Given the description of an element on the screen output the (x, y) to click on. 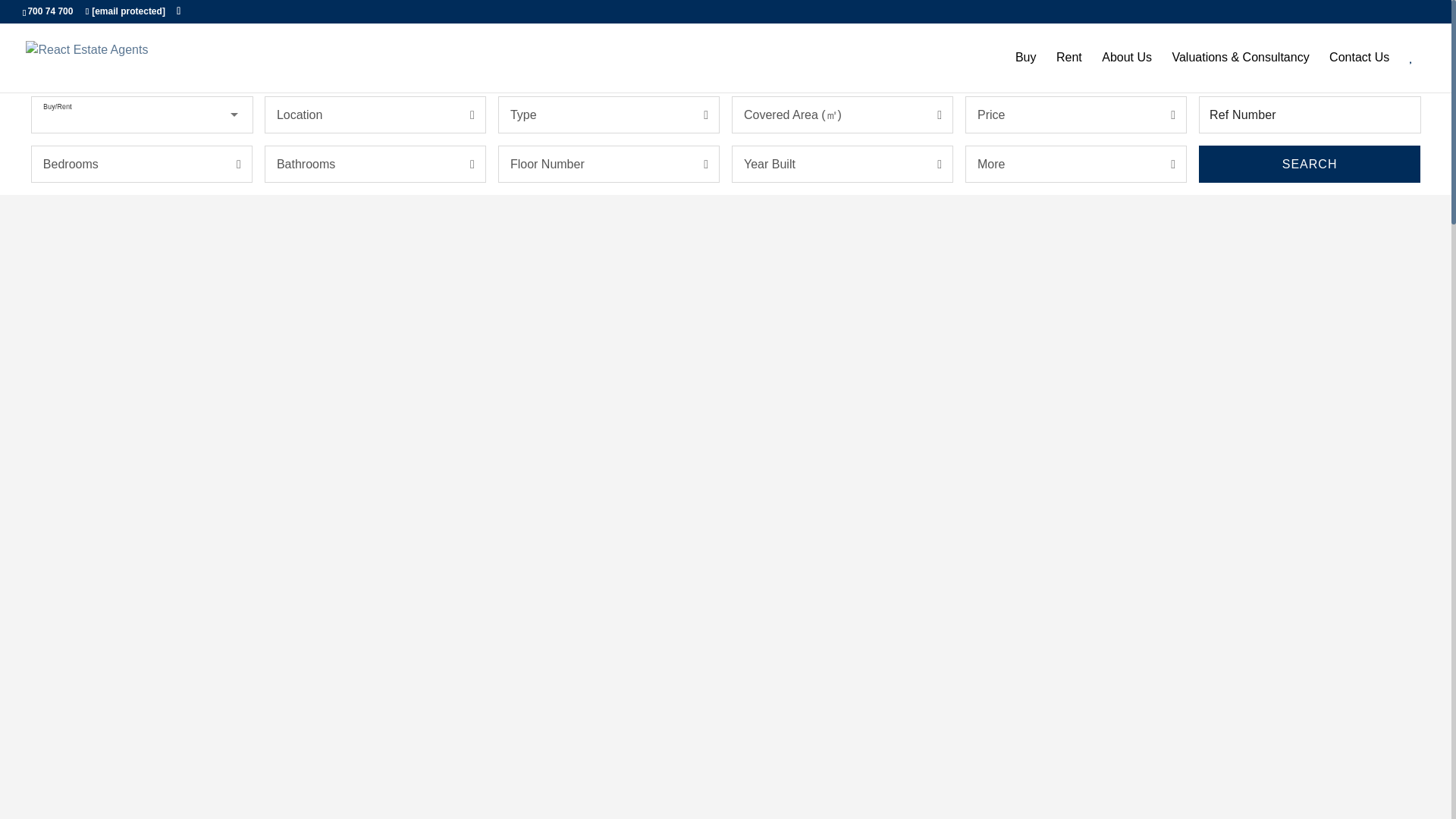
About Us (1126, 71)
SEARCH (1309, 163)
Contact Us (1359, 71)
